Given the description of an element on the screen output the (x, y) to click on. 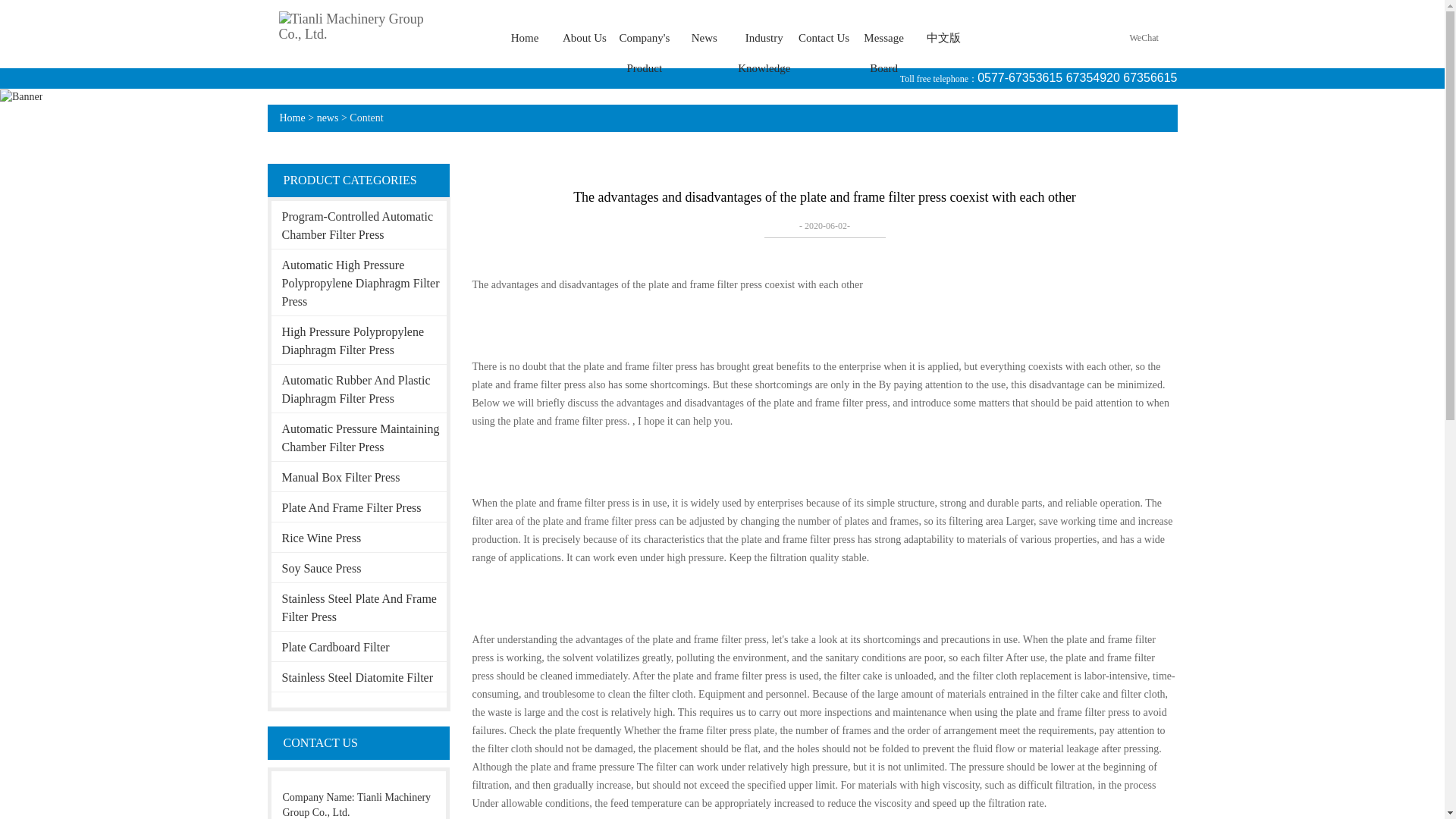
0577-67353615 67354920 67356615 (1076, 76)
Automatic Rubber And Plastic Diaphragm Filter Press (358, 388)
Home (524, 37)
Rice Wine Press (358, 537)
Manual Box Filter Press (358, 476)
Automatic High Pressure Polypropylene Diaphragm Filter Press (358, 282)
Stainless Steel Diatomite Filter (358, 676)
Plate Cardboard Filter (358, 645)
Stainless Steel Plate And Frame Filter Press (358, 606)
Program-Controlled Automatic Chamber Filter Press (358, 224)
About Us (584, 37)
Home (291, 117)
Contact Us (823, 37)
news (328, 117)
News (703, 37)
